Given the description of an element on the screen output the (x, y) to click on. 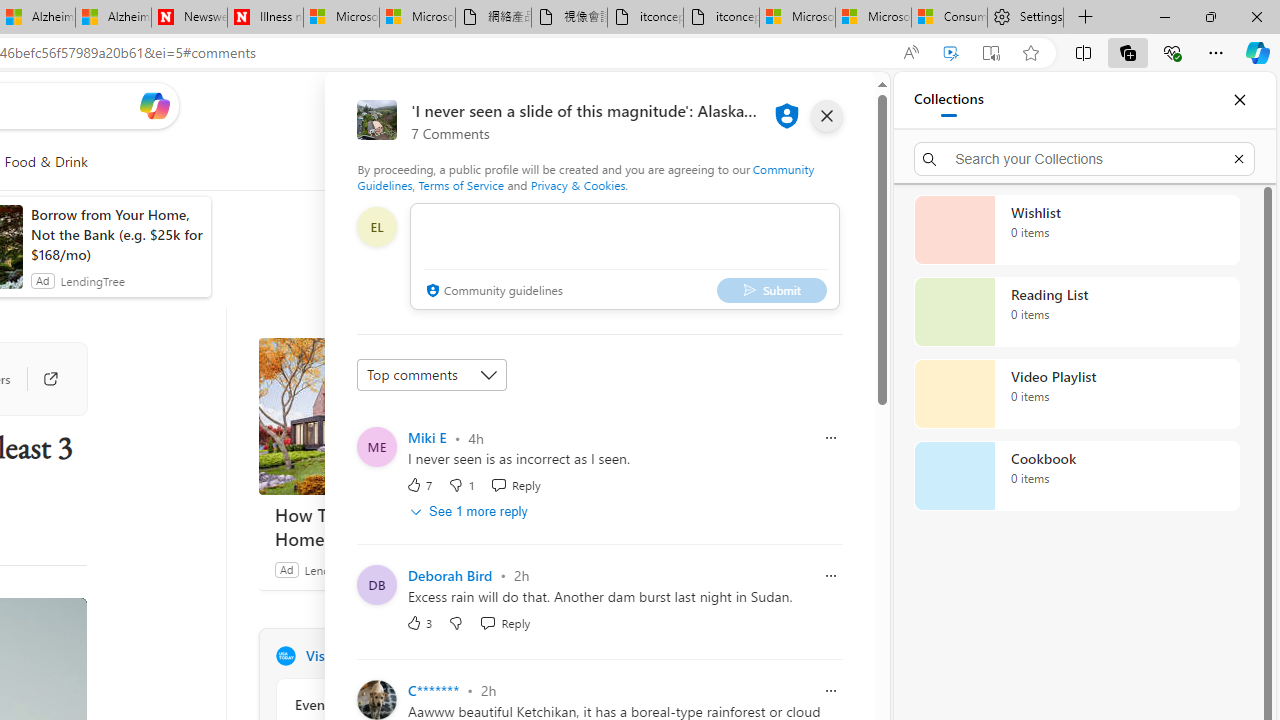
Video Playlist collection, 0 items (1076, 394)
Profile Picture (376, 699)
Report comment (831, 690)
